Given the description of an element on the screen output the (x, y) to click on. 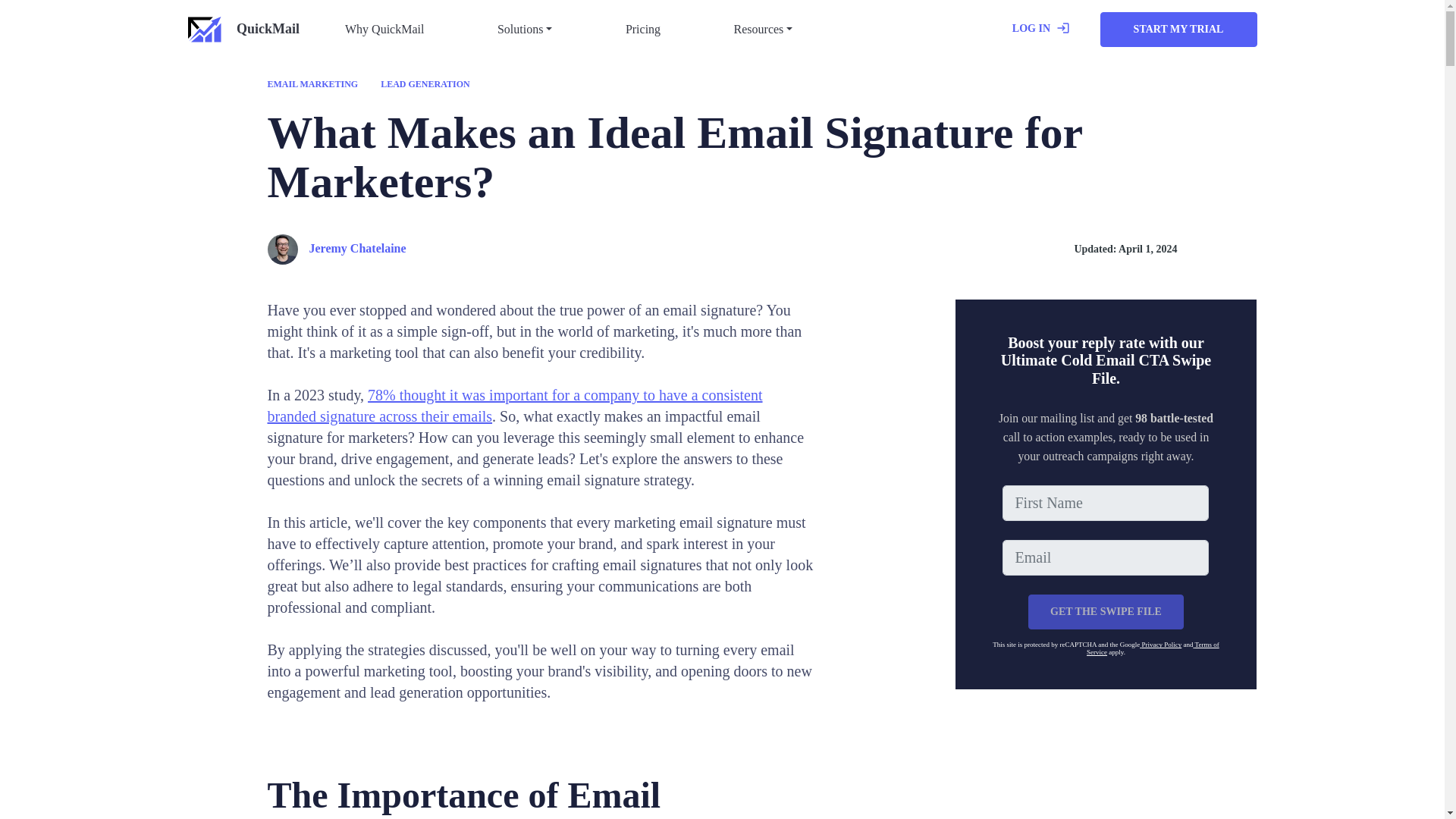
LOG IN (1040, 29)
QuickMail (243, 29)
Get the Swipe File (1105, 611)
Pricing (642, 30)
START MY TRIAL (1177, 29)
Jeremy Chatelaine (336, 249)
Solutions (524, 30)
Resources (763, 30)
Why QuickMail (383, 30)
Solutions (524, 30)
Pricing (642, 30)
Resources (763, 30)
QuickMail (243, 29)
Why QuickMail (383, 30)
